Given the description of an element on the screen output the (x, y) to click on. 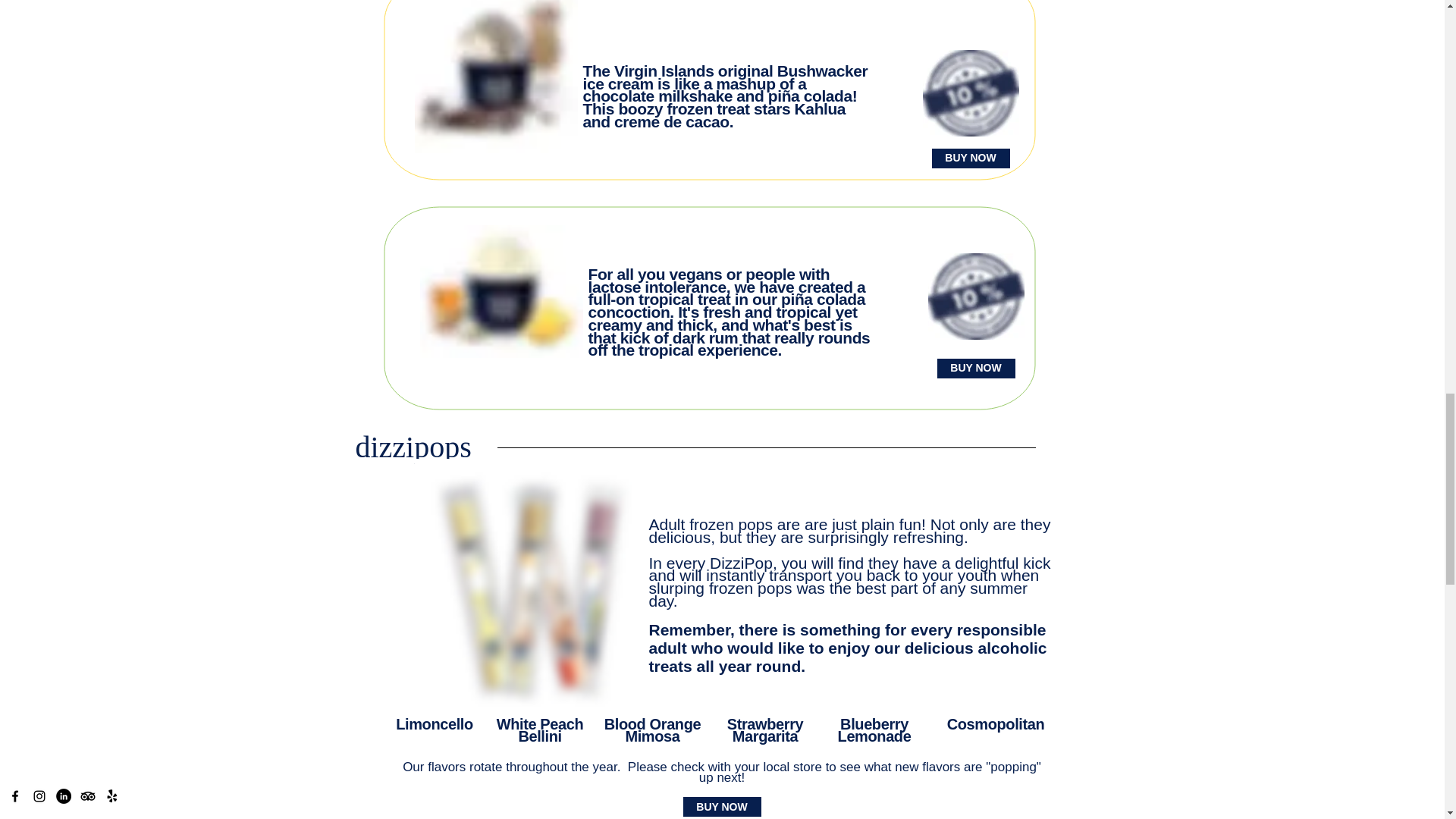
BUY NOW (976, 368)
BUY NOW (721, 806)
BUY NOW (970, 158)
